Given the description of an element on the screen output the (x, y) to click on. 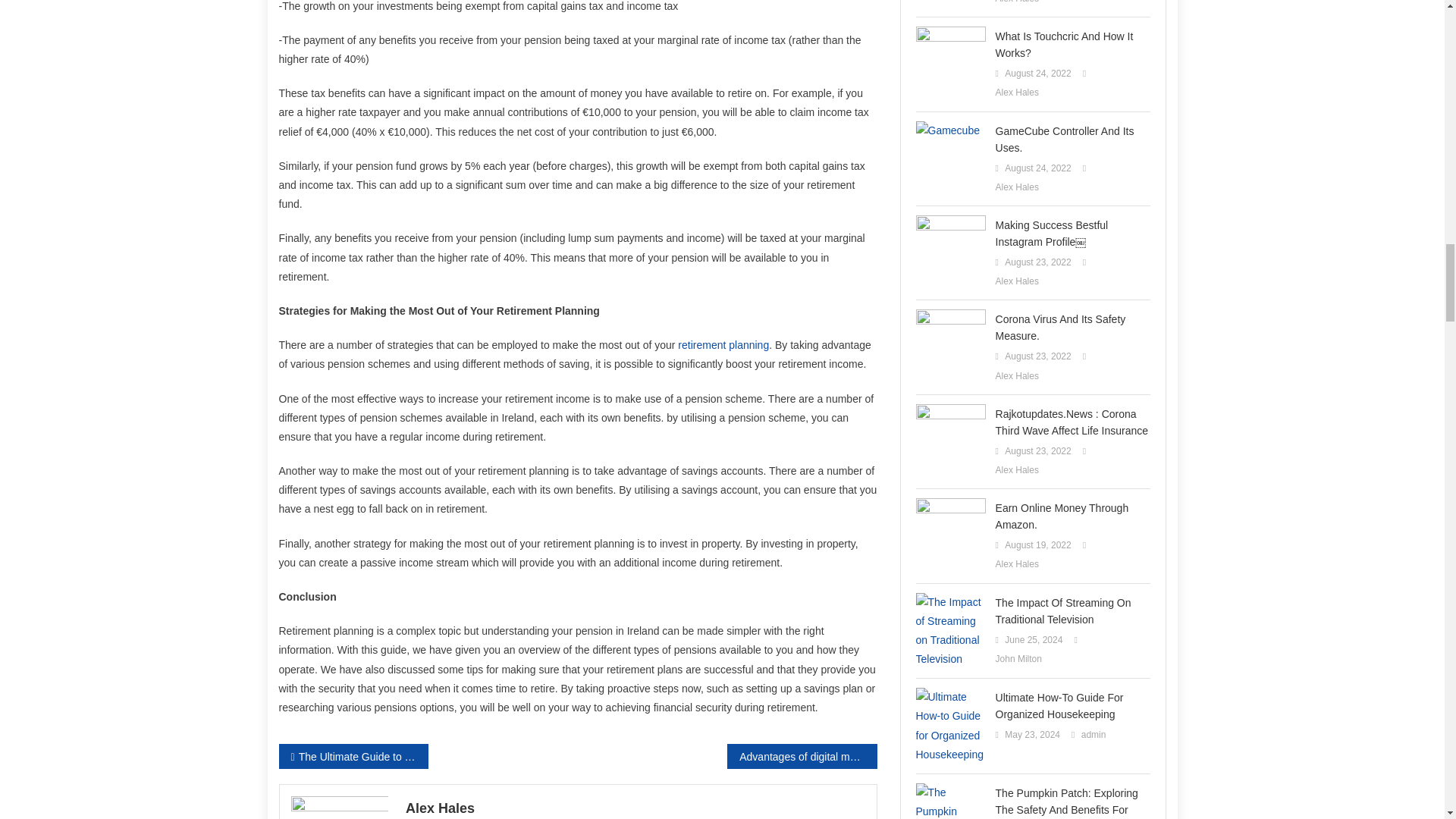
retirement planning (723, 345)
Advantages of digital marketing services in India (801, 756)
Alex Hales (635, 807)
